Given the description of an element on the screen output the (x, y) to click on. 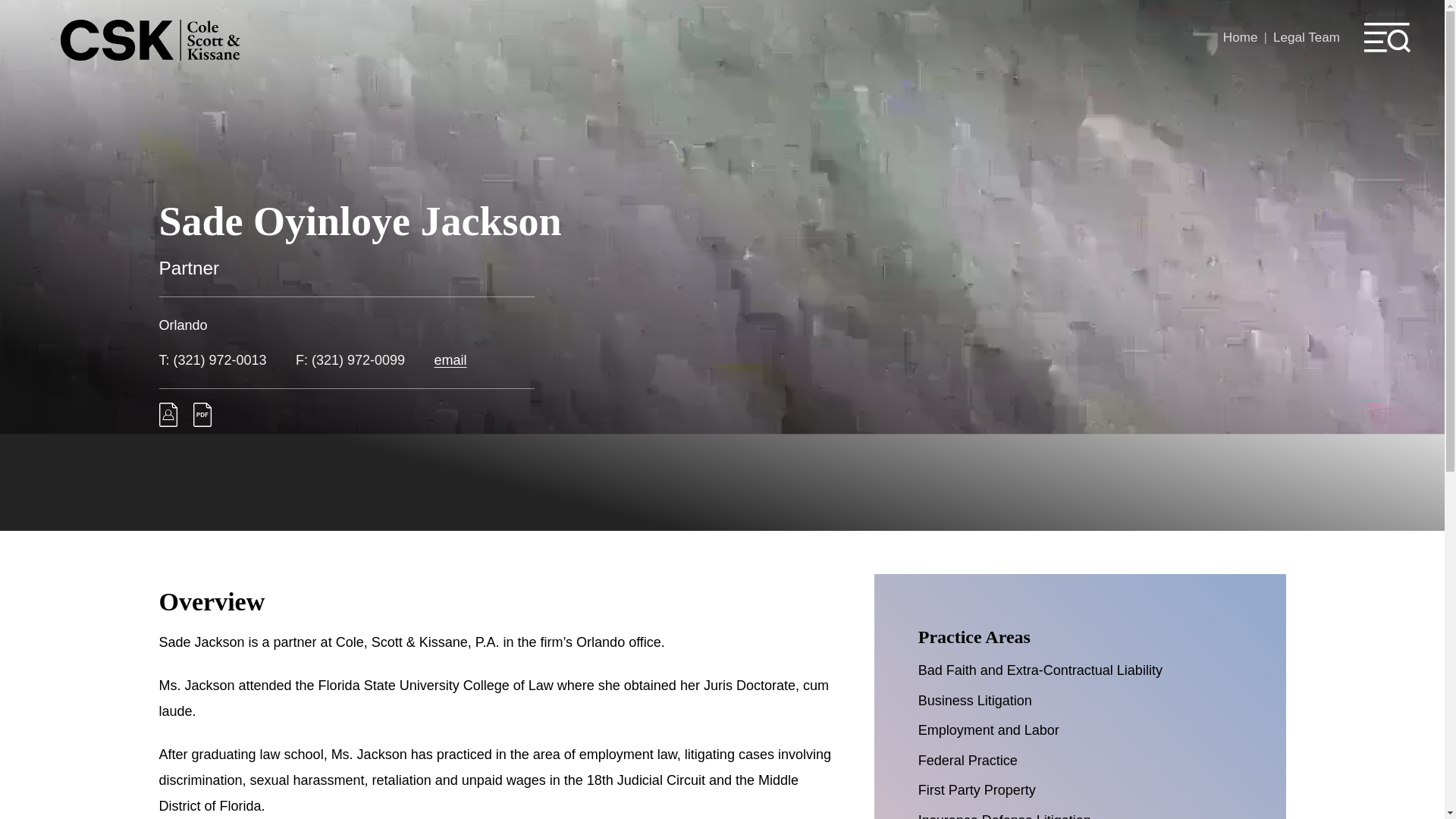
Legal Team (1305, 37)
email (450, 359)
Main Menu (676, 20)
Print PDF (201, 421)
Main Content (669, 20)
Menu (676, 20)
vCard (167, 421)
Home (1240, 37)
Menu (1387, 37)
Menu (1387, 37)
